Given the description of an element on the screen output the (x, y) to click on. 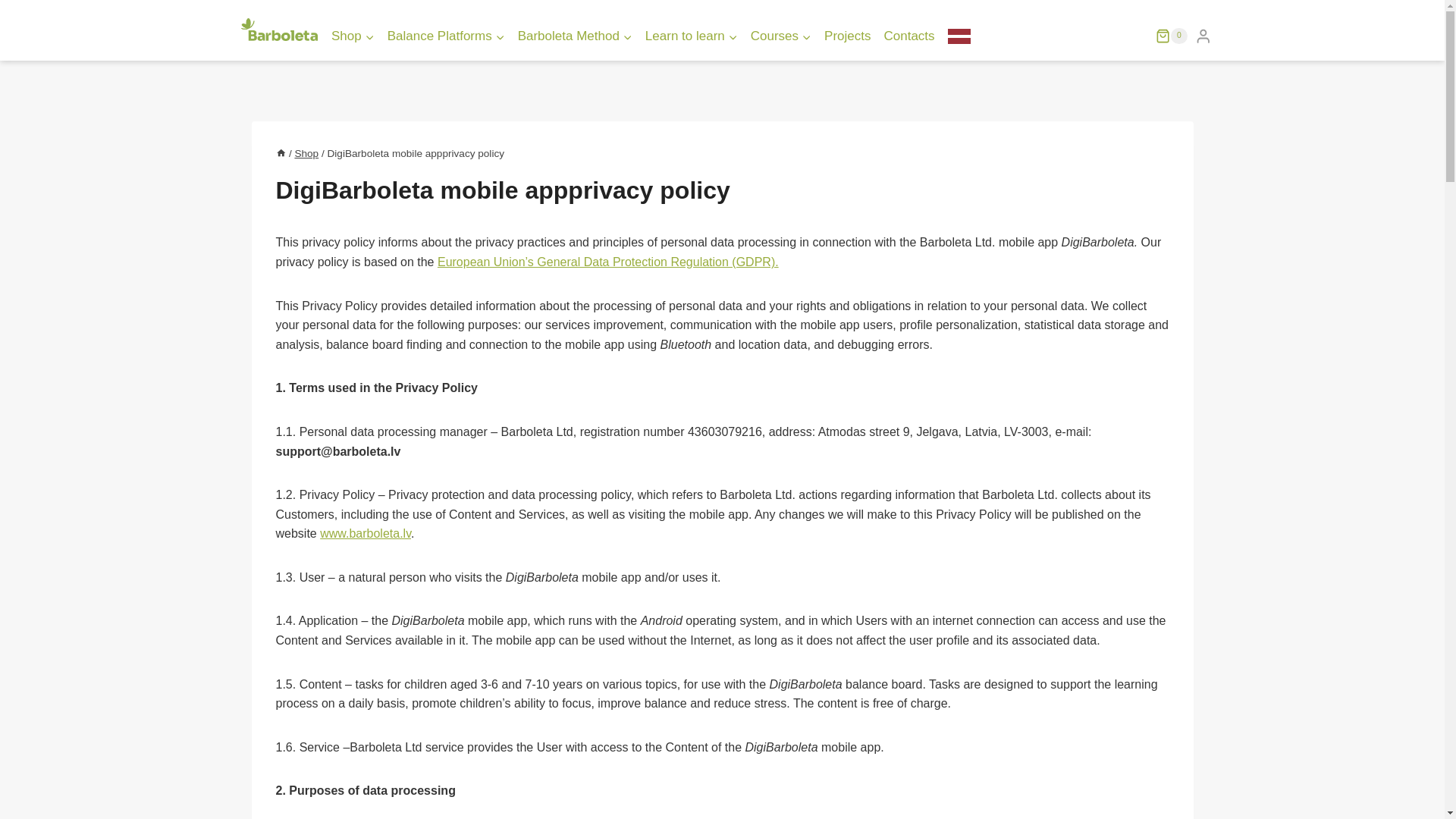
Balance Platforms (445, 36)
Shop (352, 36)
Courses (780, 36)
Learn to learn (691, 36)
Barboleta Method (575, 36)
Contacts (908, 36)
Projects (847, 36)
